Given the description of an element on the screen output the (x, y) to click on. 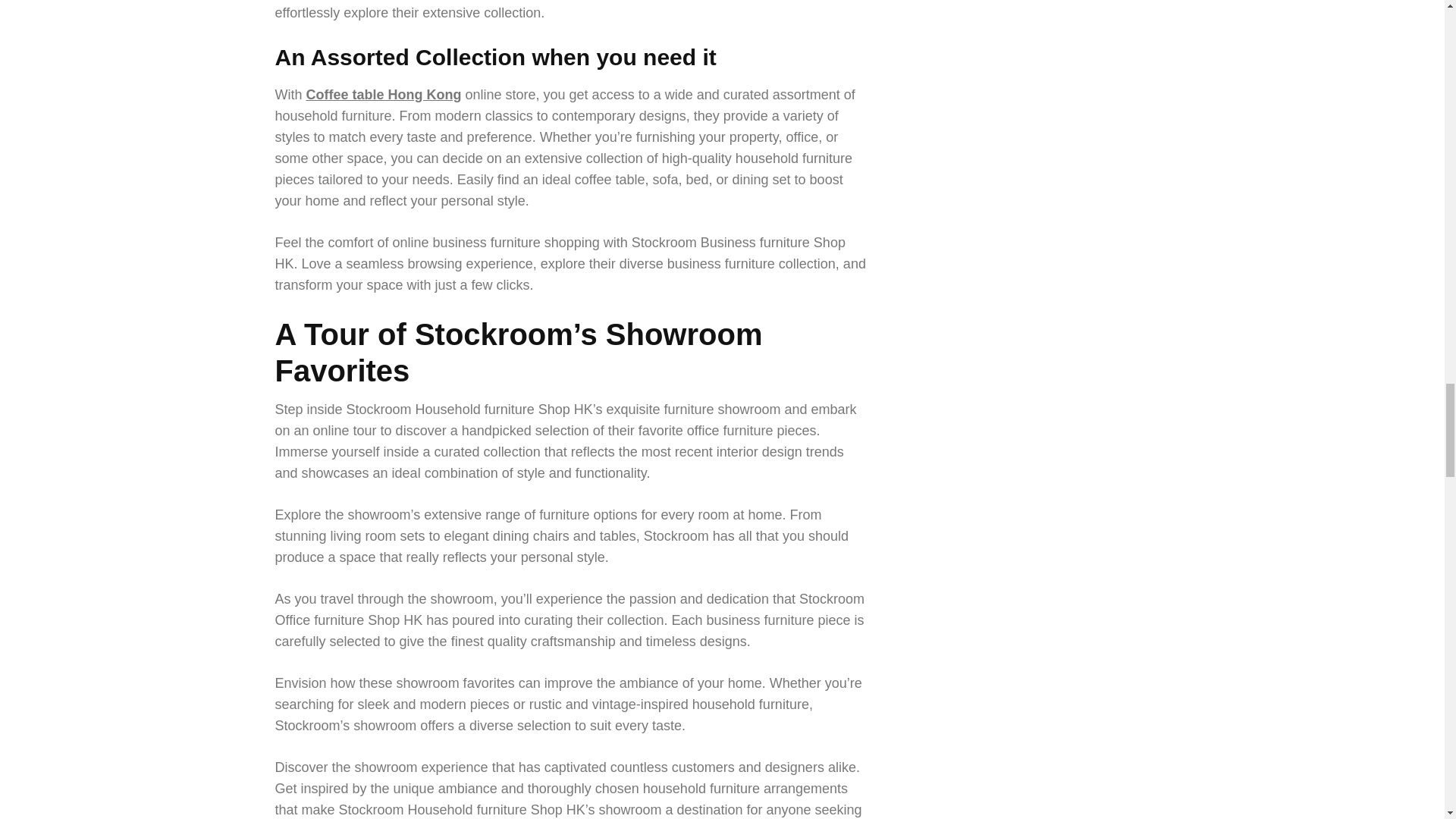
Coffee table Hong Kong (383, 94)
